Given the description of an element on the screen output the (x, y) to click on. 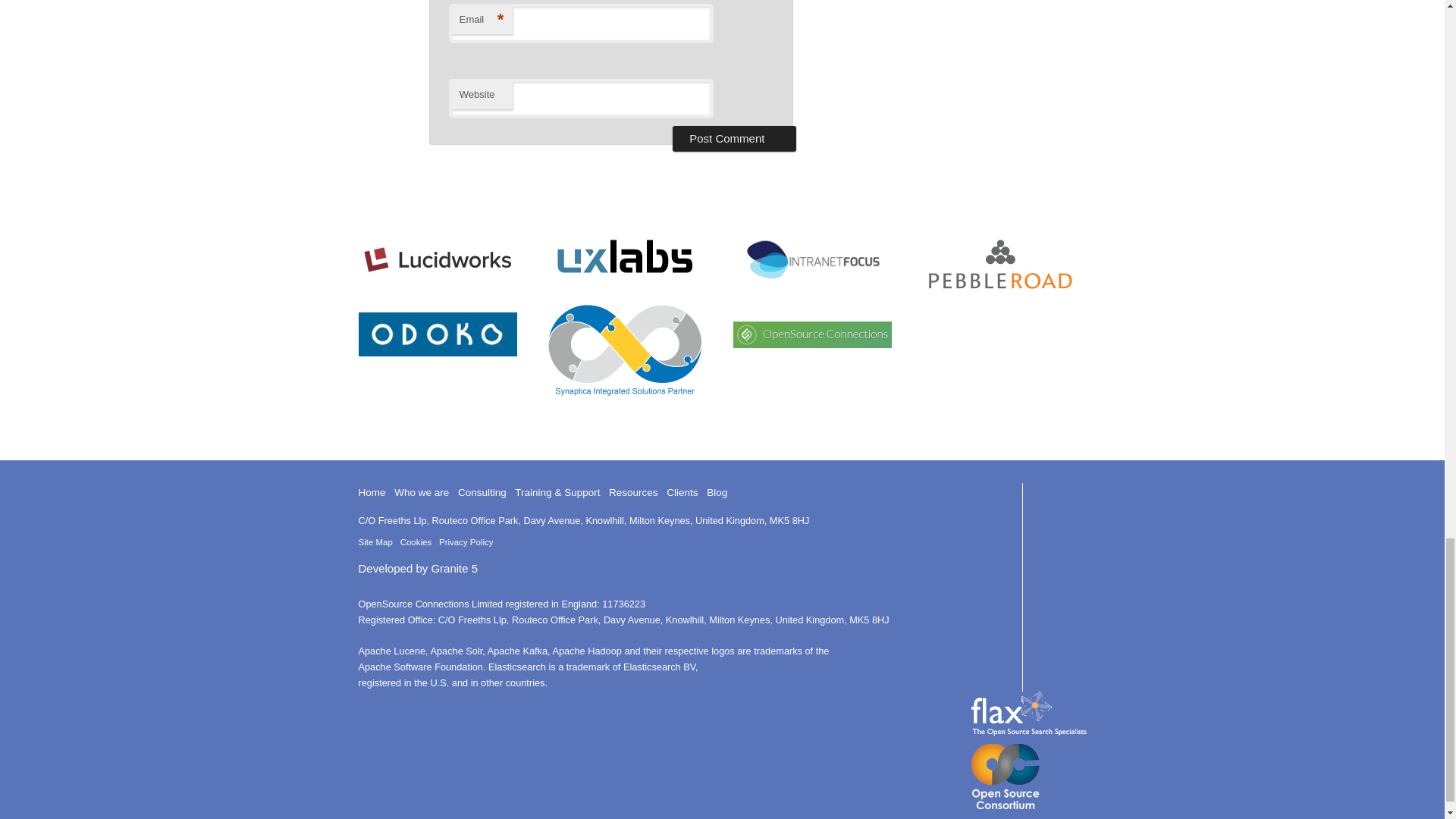
Post Comment (734, 138)
